Given the description of an element on the screen output the (x, y) to click on. 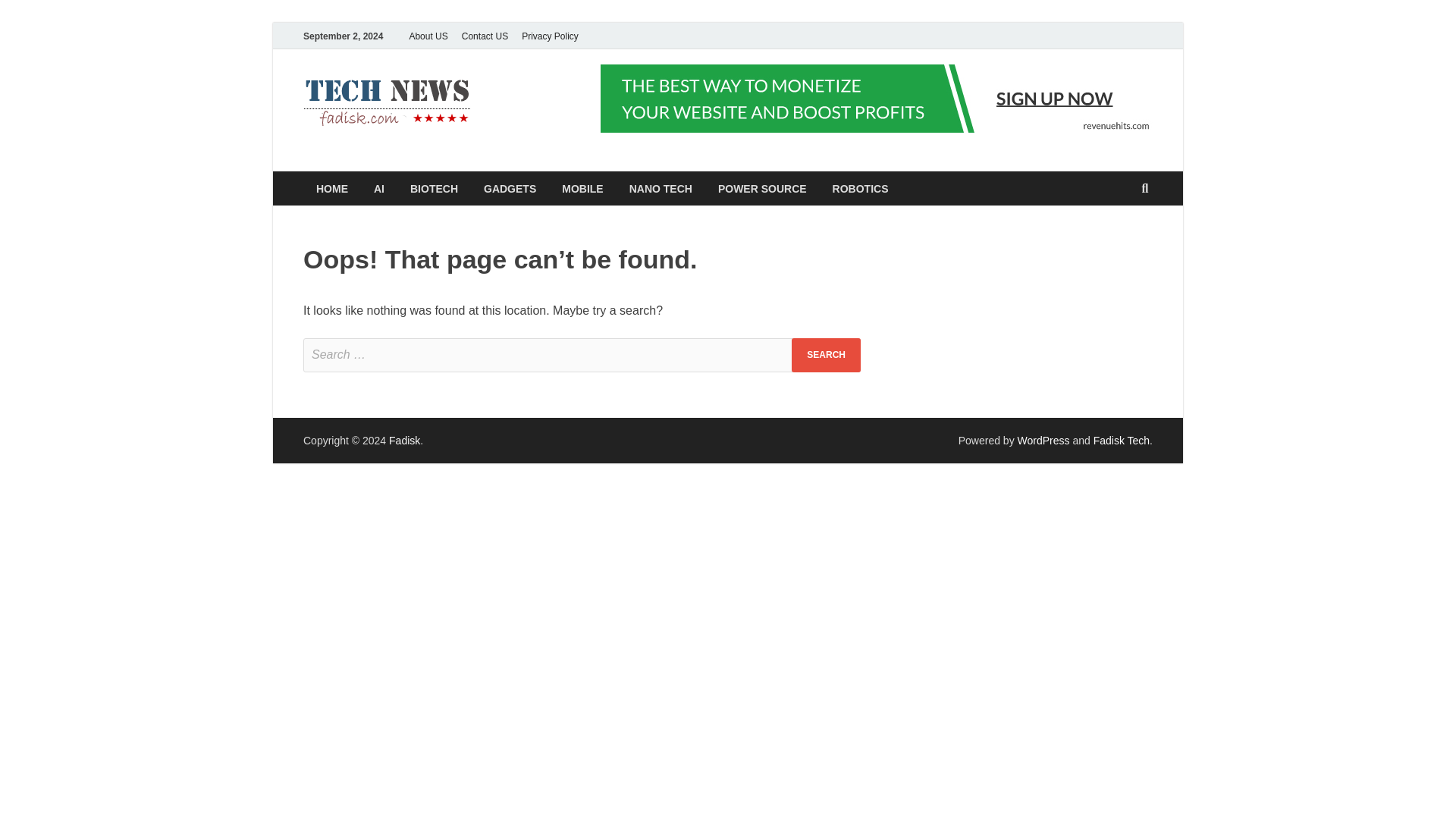
POWER SOURCE (761, 188)
ROBOTICS (860, 188)
NANO TECH (659, 188)
GADGETS (509, 188)
Fadisk (525, 100)
AI (379, 188)
Contact US (484, 35)
Privacy Policy (550, 35)
BIOTECH (433, 188)
MOBILE (581, 188)
